Given the description of an element on the screen output the (x, y) to click on. 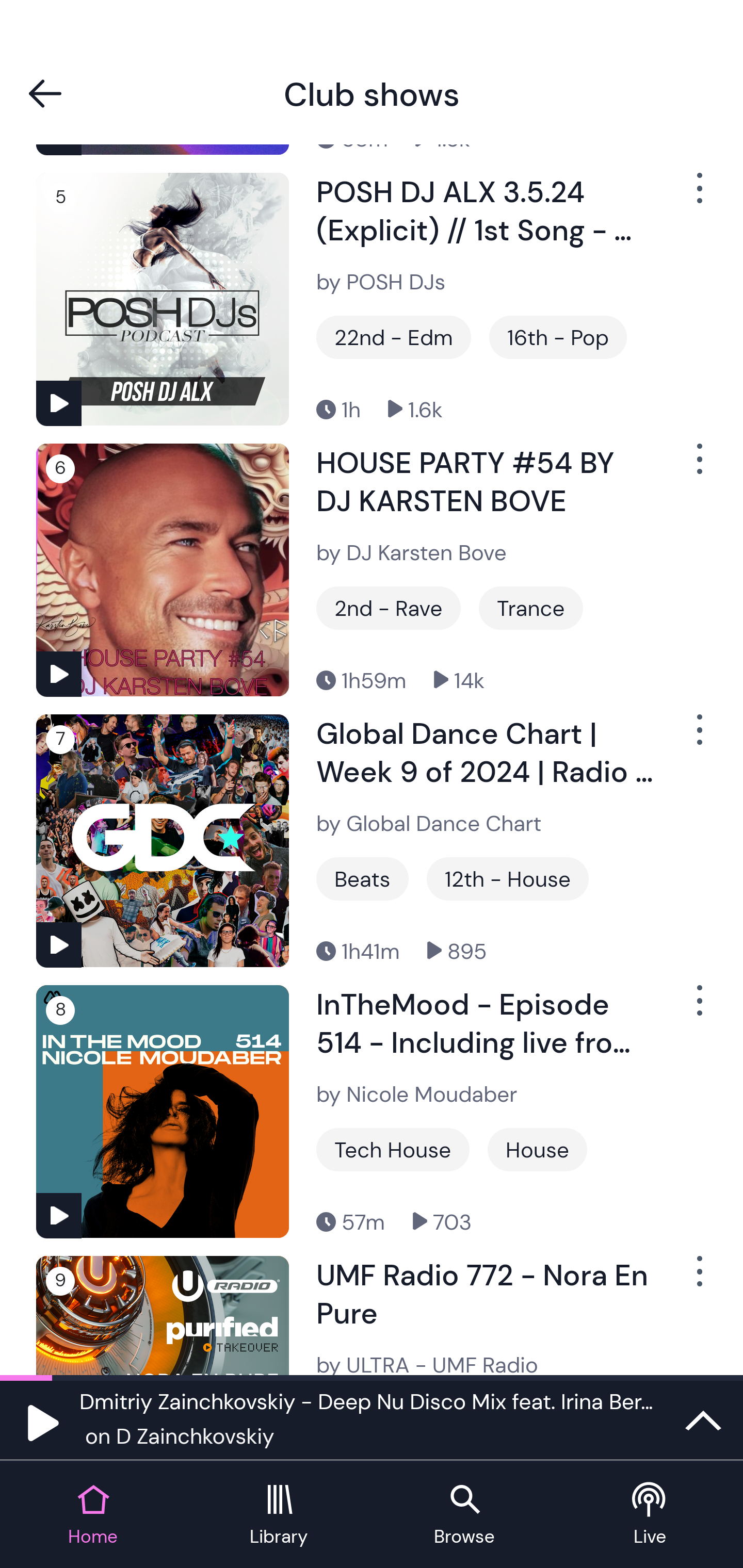
Show Options Menu Button (697, 195)
22nd - Edm (393, 337)
16th - Pop (557, 337)
Show Options Menu Button (697, 466)
2nd - Rave (388, 608)
Trance (530, 608)
Show Options Menu Button (697, 738)
Beats (362, 878)
12th - House (507, 878)
Show Options Menu Button (697, 1007)
Tech House (392, 1149)
House (536, 1149)
Show Options Menu Button (697, 1279)
Home tab Home (92, 1515)
Library tab Library (278, 1515)
Browse tab Browse (464, 1515)
Live tab Live (650, 1515)
